Given the description of an element on the screen output the (x, y) to click on. 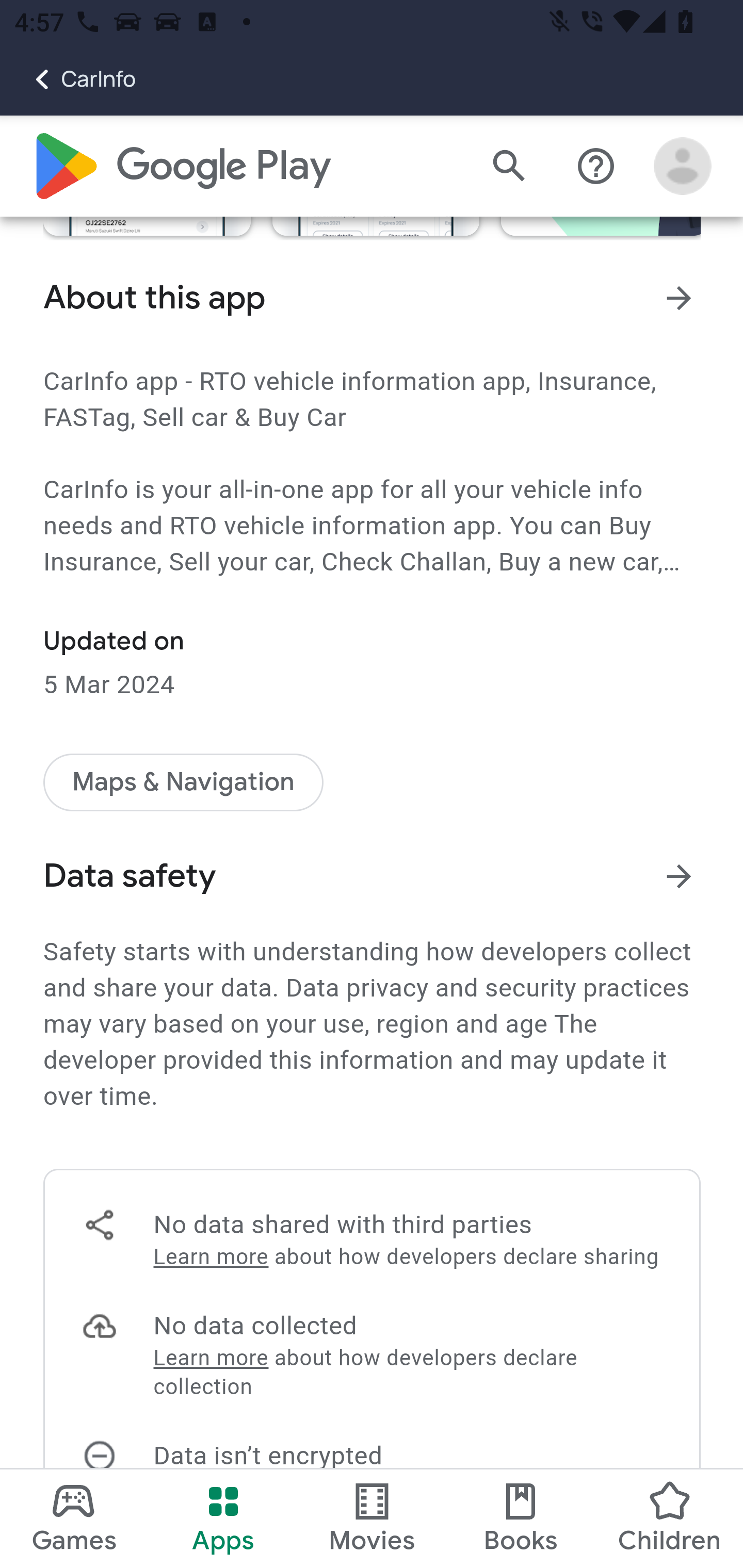
CarInfo (67, 79)
Google Play logo (180, 166)
Search (508, 166)
Help centre (596, 166)
Open account menu (682, 166)
See more information on About this app (679, 298)
Maps & Navigation (184, 782)
See more information on Data safety (679, 876)
Learn more (209, 1257)
Learn more (209, 1358)
Games (74, 1518)
Apps (222, 1518)
Movies (372, 1518)
Books (520, 1518)
Children (668, 1518)
